Given the description of an element on the screen output the (x, y) to click on. 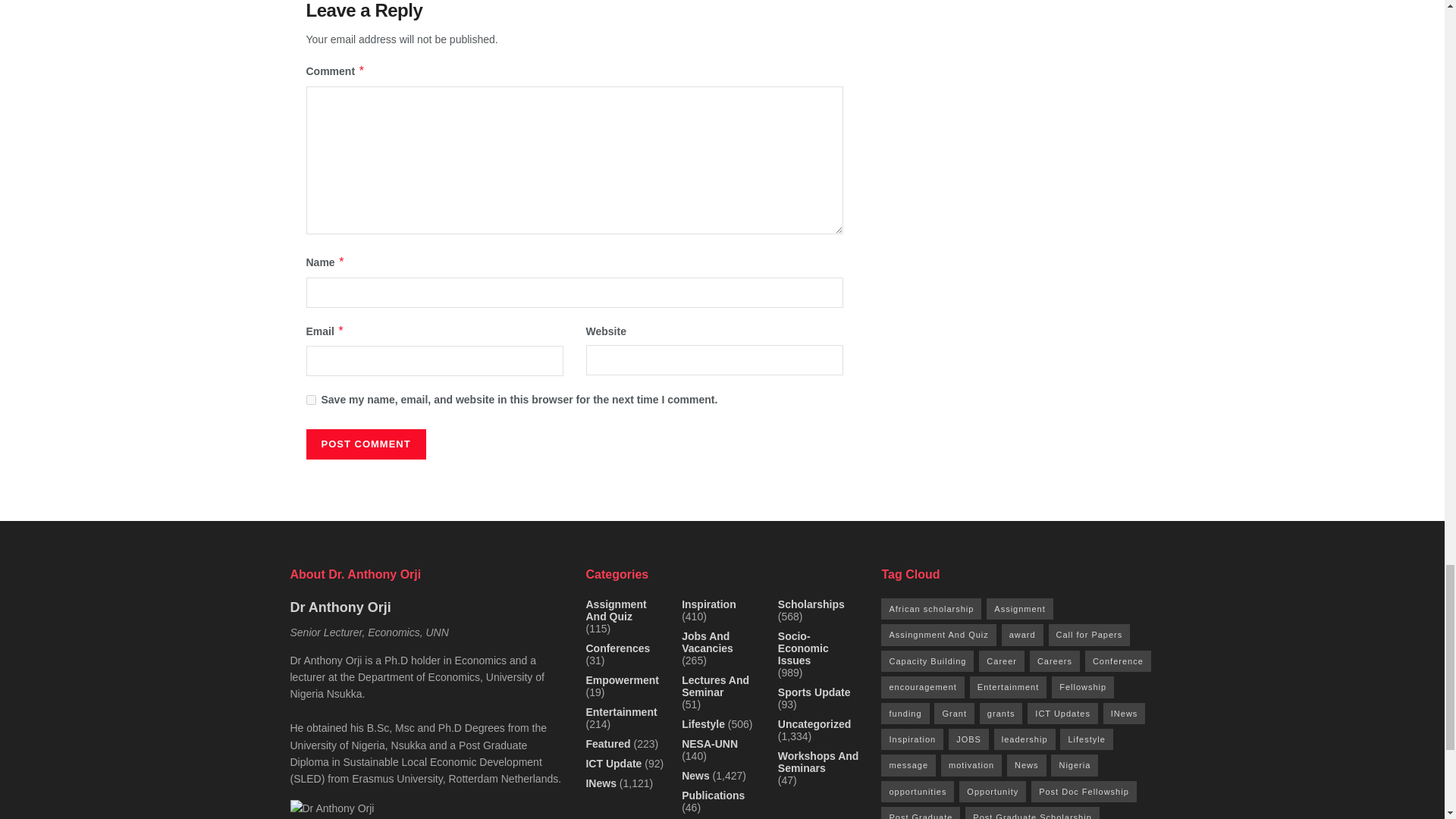
yes (310, 399)
Post Comment (365, 444)
